Given the description of an element on the screen output the (x, y) to click on. 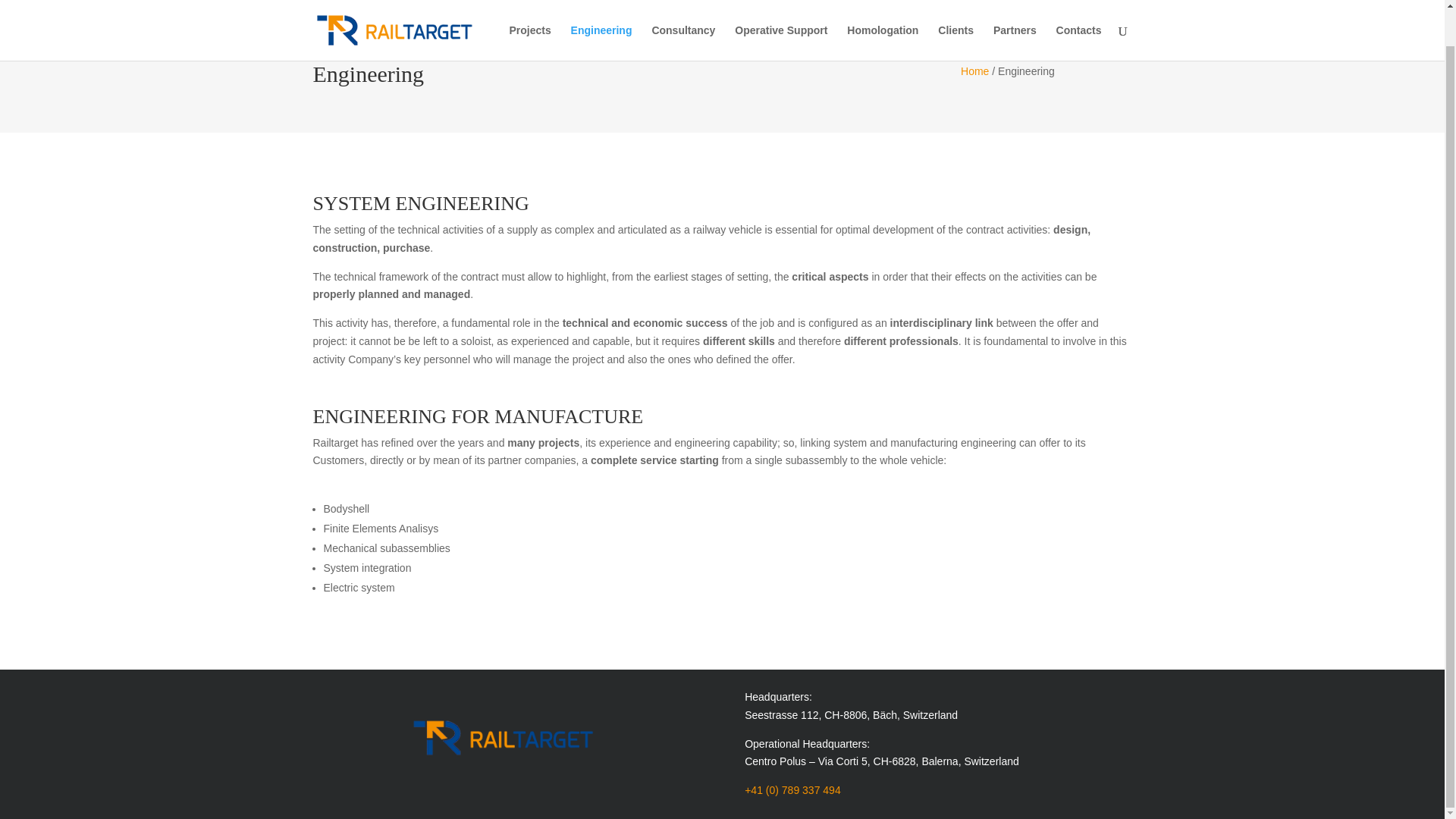
Homologation (882, 11)
Projects (529, 11)
Consultancy (682, 11)
Home (974, 70)
Contacts (1079, 11)
Partners (1014, 11)
Operative Support (781, 11)
Logo-railtarget-OK-WP-300-300x60 (506, 737)
Clients (955, 11)
Engineering (600, 11)
